Given the description of an element on the screen output the (x, y) to click on. 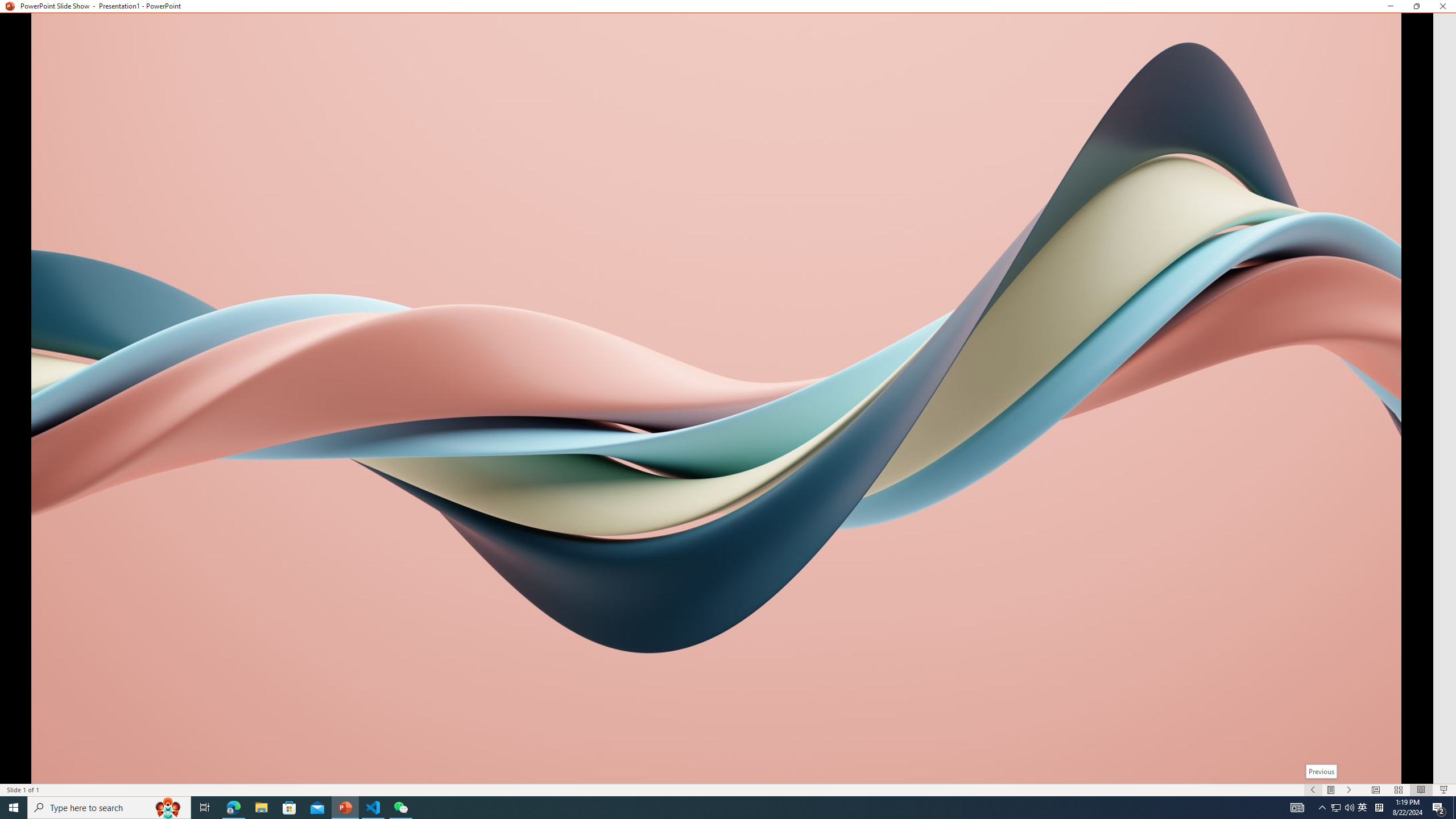
Previous (1321, 771)
Slide Show Next On (1349, 790)
Slide Show Previous On (1313, 790)
Menu On (1331, 790)
